Given the description of an element on the screen output the (x, y) to click on. 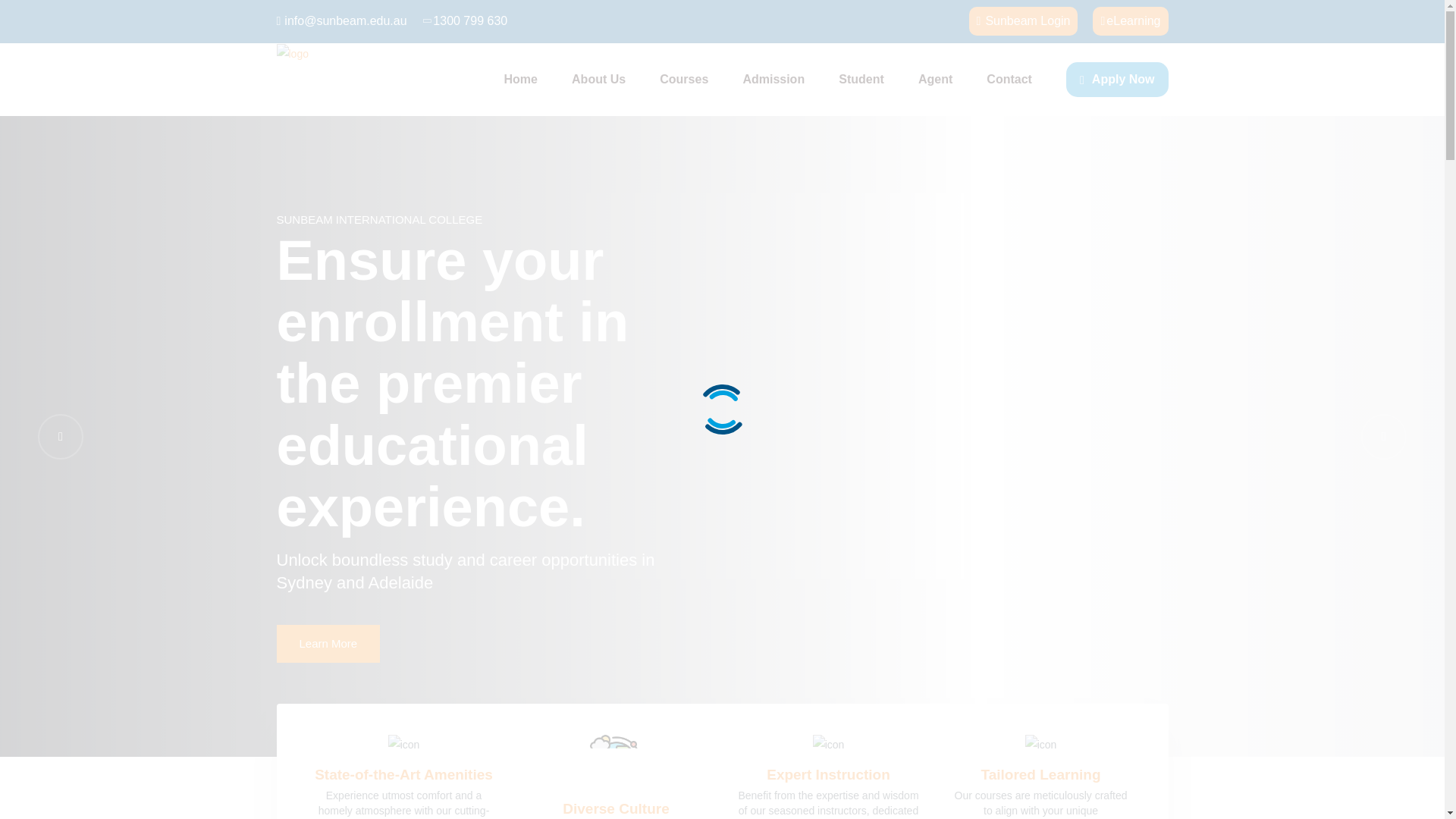
Sunbeam Login (1023, 21)
1300 799 630 (465, 21)
eLearning (1130, 21)
Courses (683, 79)
Admission (773, 79)
About Us (599, 79)
